Given the description of an element on the screen output the (x, y) to click on. 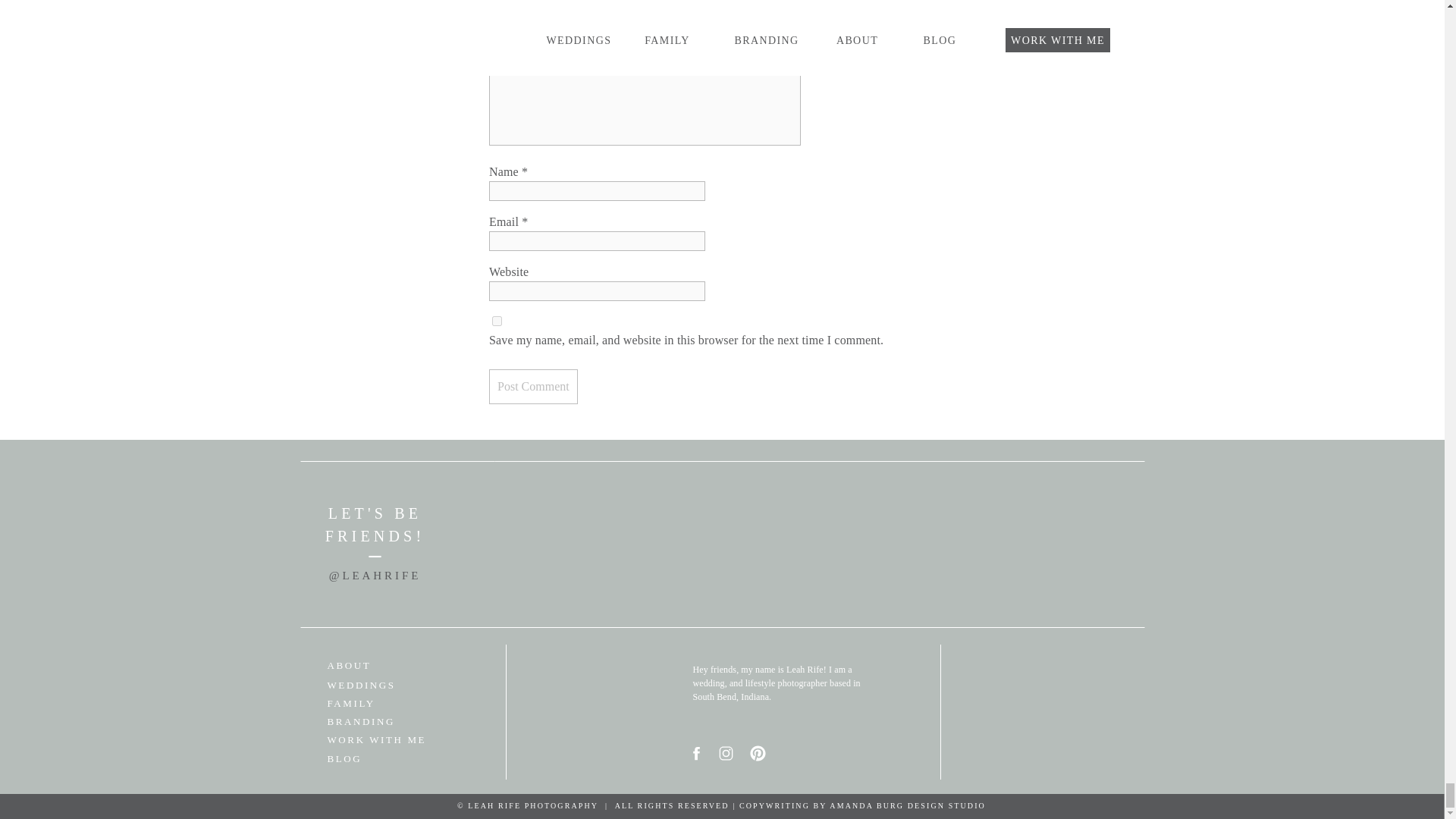
BRANDING (384, 721)
WORK WITH ME (384, 739)
WEDDINGS (384, 685)
Post Comment (533, 386)
Post Comment (533, 386)
yes (497, 320)
ABOUT (384, 665)
FAMILY (384, 703)
BLOG (384, 758)
